Given the description of an element on the screen output the (x, y) to click on. 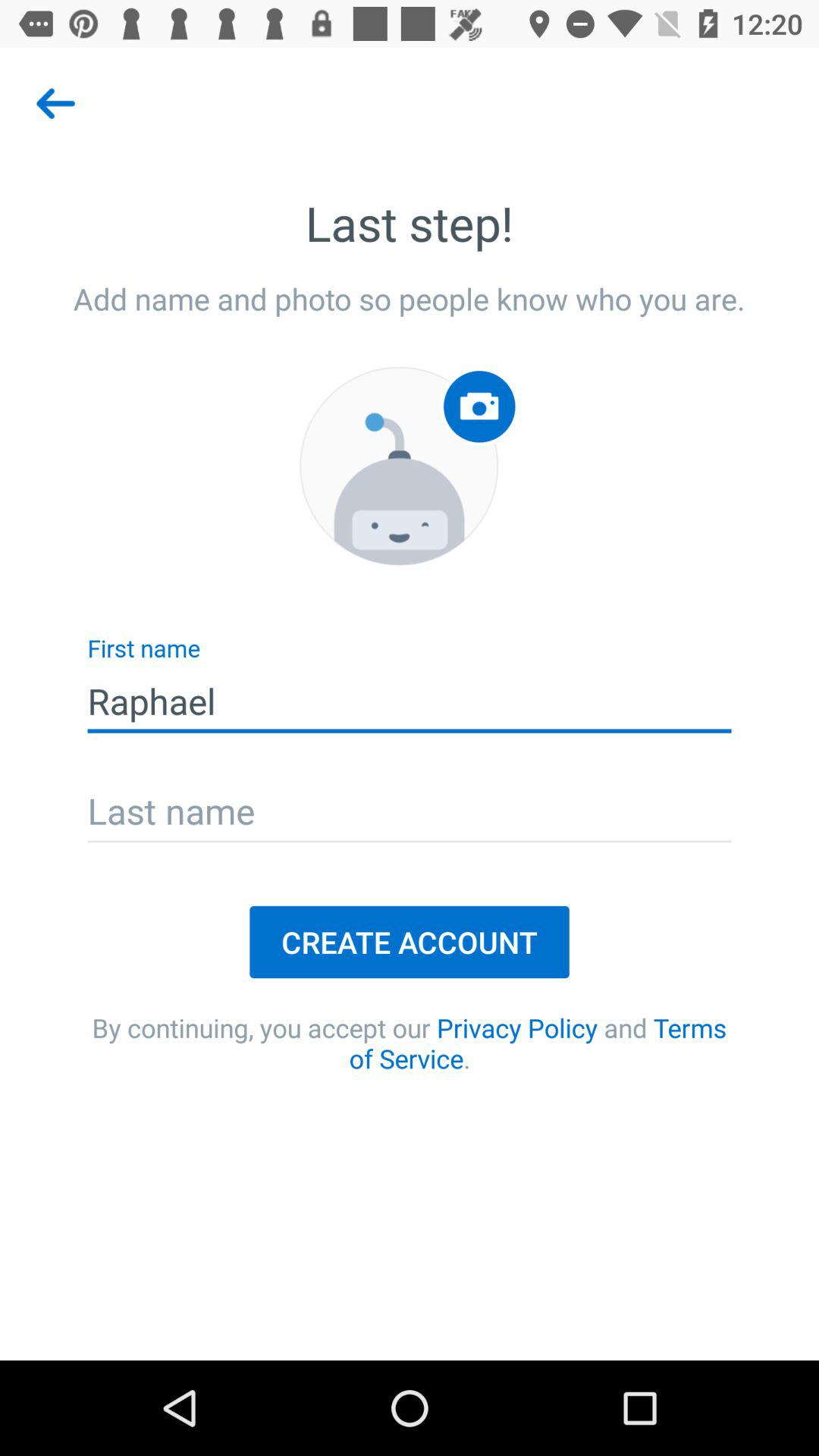
flip to raphael (409, 701)
